Given the description of an element on the screen output the (x, y) to click on. 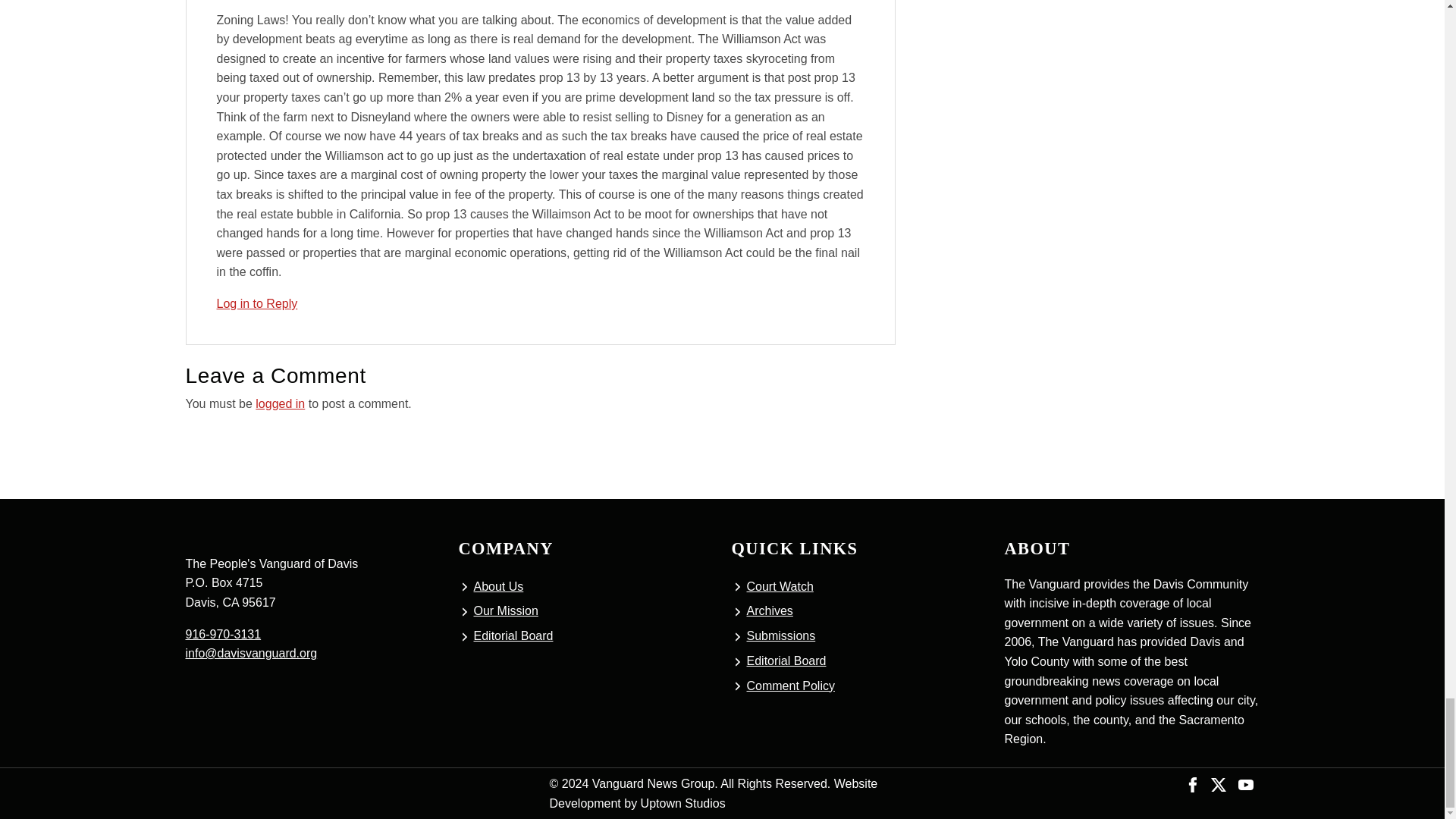
Twitter (1218, 783)
Facebook (1192, 783)
YouTube (1245, 783)
